Given the description of an element on the screen output the (x, y) to click on. 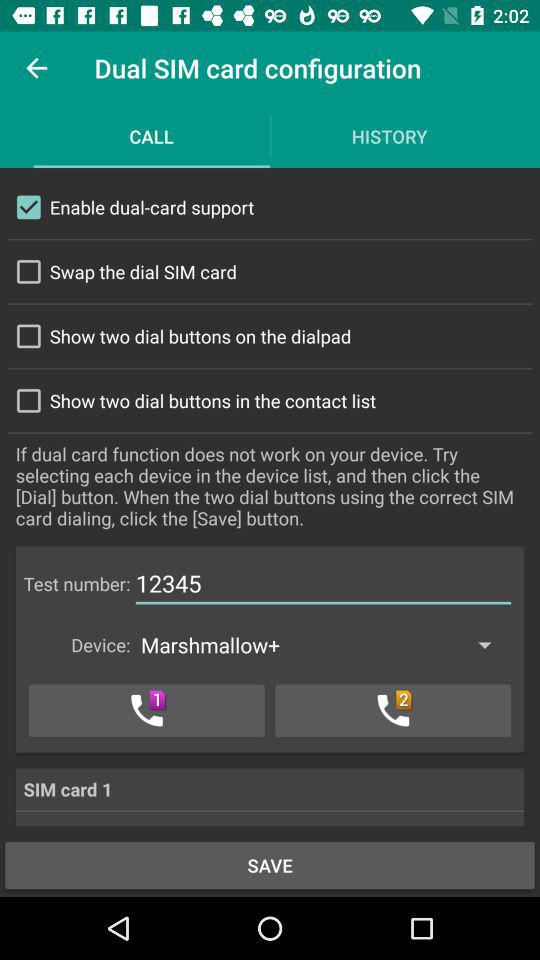
select the number next to test number (323, 583)
select the second sim option (393, 710)
click on the first phone icon (146, 710)
select the first check box and its text (269, 207)
